Given the description of an element on the screen output the (x, y) to click on. 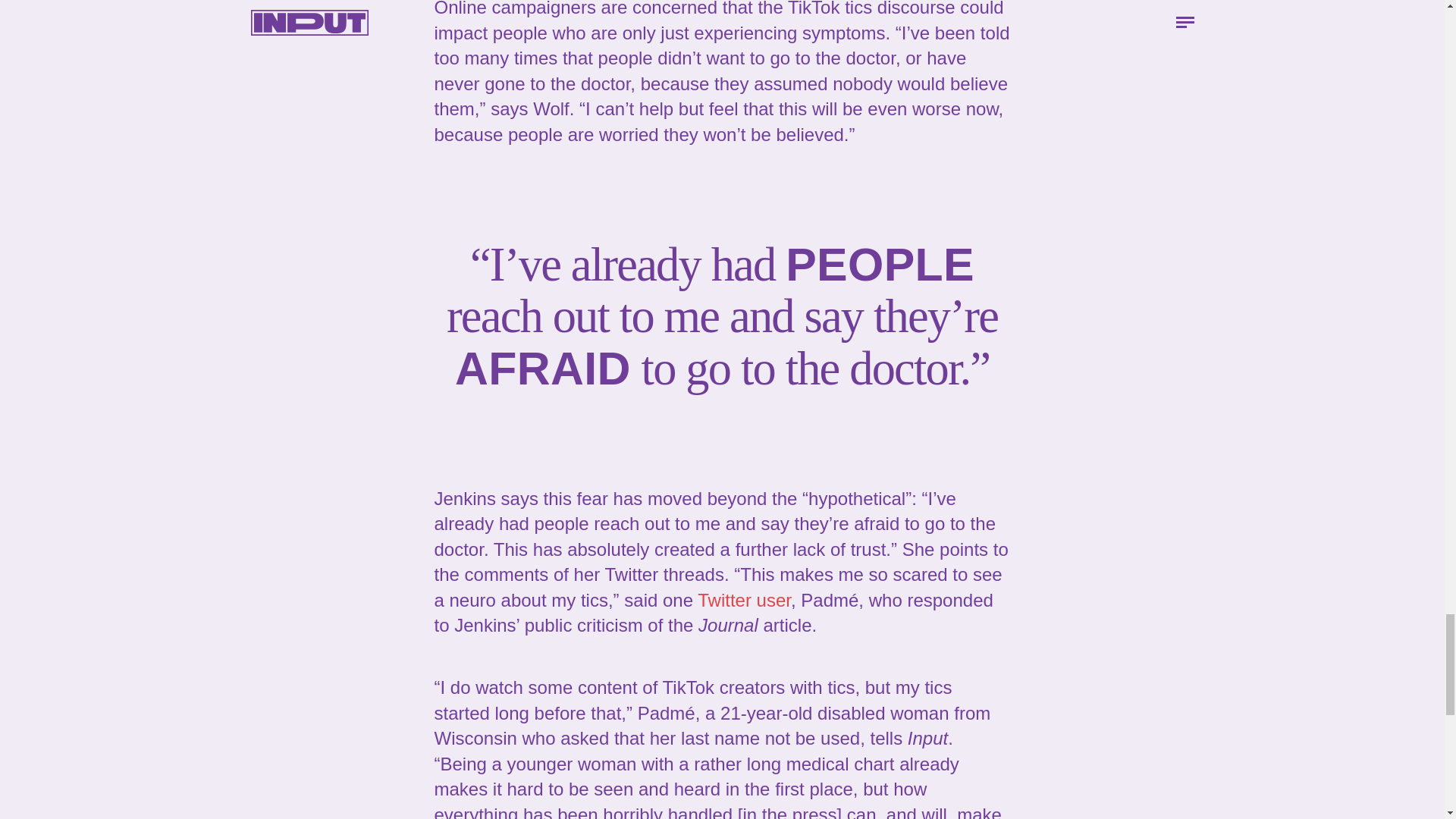
Twitter user (743, 599)
